Given the description of an element on the screen output the (x, y) to click on. 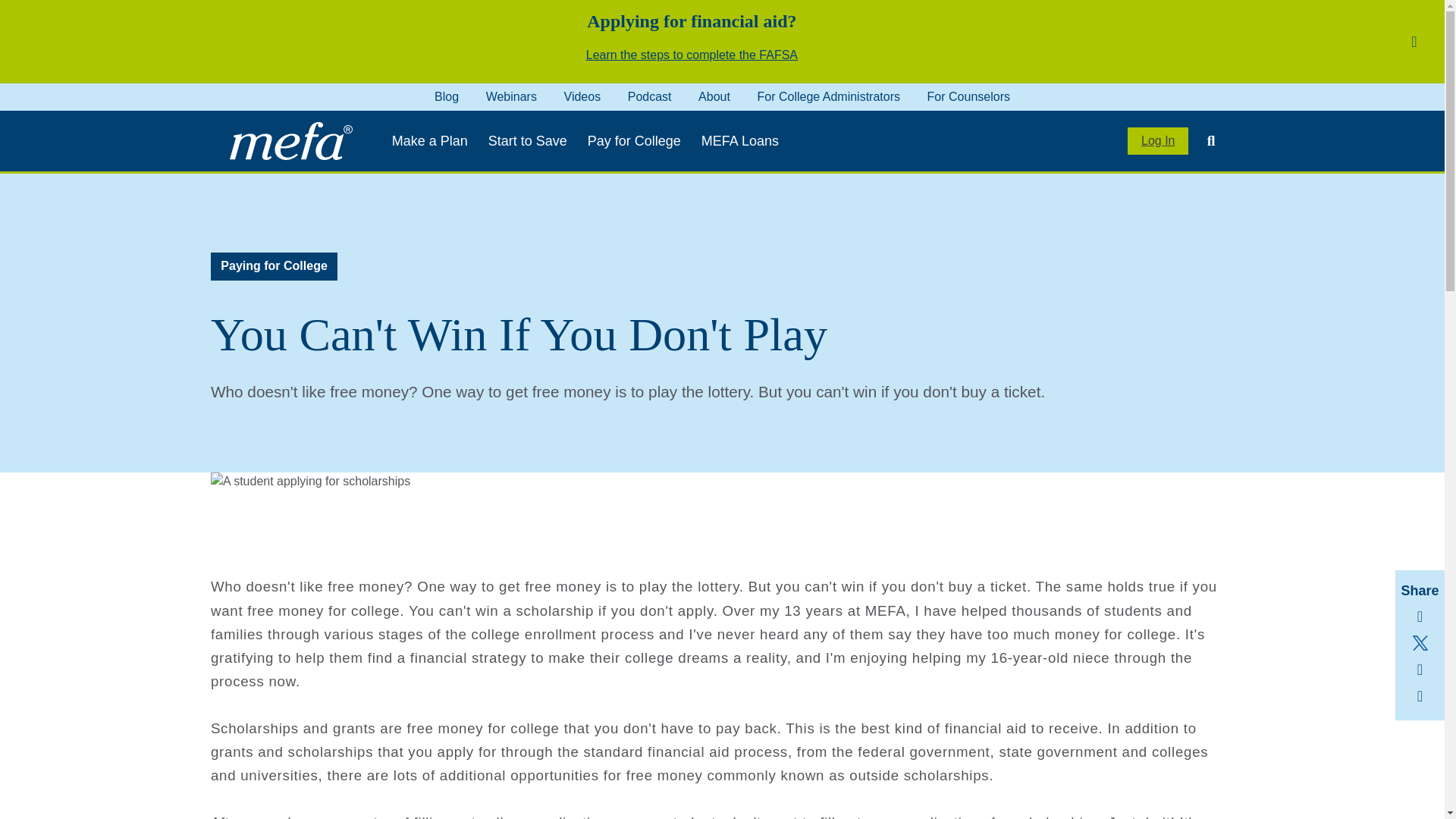
About (714, 96)
Log in (1157, 140)
fafsa (691, 54)
Podcast (649, 96)
Learn the steps to complete the FAFSA (691, 54)
Make a Plan (429, 140)
Start to Save (527, 140)
Webinars (511, 96)
Videos (582, 96)
MASSACHUSETTS EDUCATIONAL FINANCING AUTHORITY (290, 140)
For College Administrators (828, 96)
Twitter-X (1419, 642)
Search (1203, 140)
For Counselors (968, 96)
Blog (445, 96)
